Given the description of an element on the screen output the (x, y) to click on. 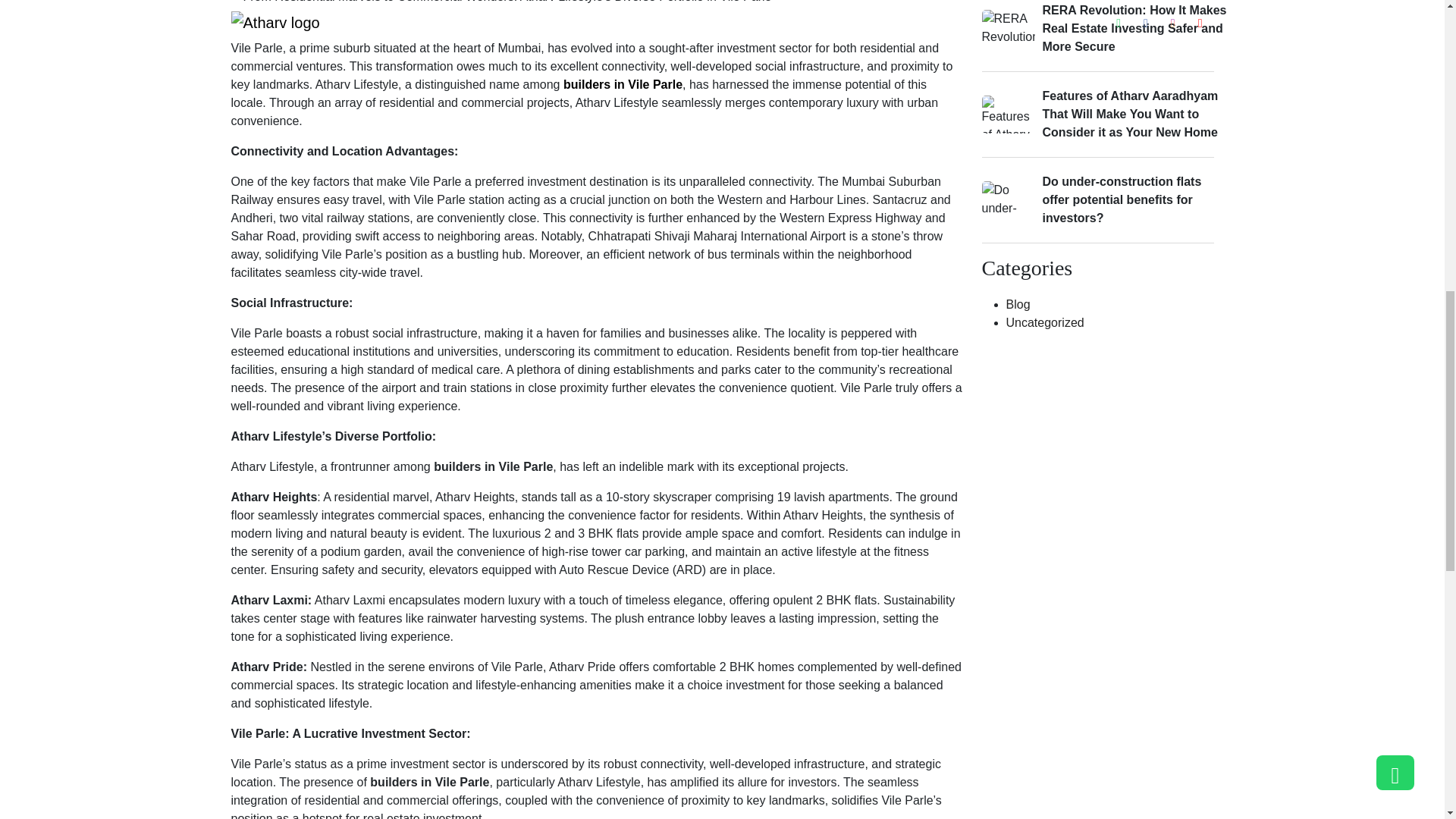
Blog (1017, 304)
builders in Vile Parle (622, 83)
Uncategorized (1044, 322)
